Given the description of an element on the screen output the (x, y) to click on. 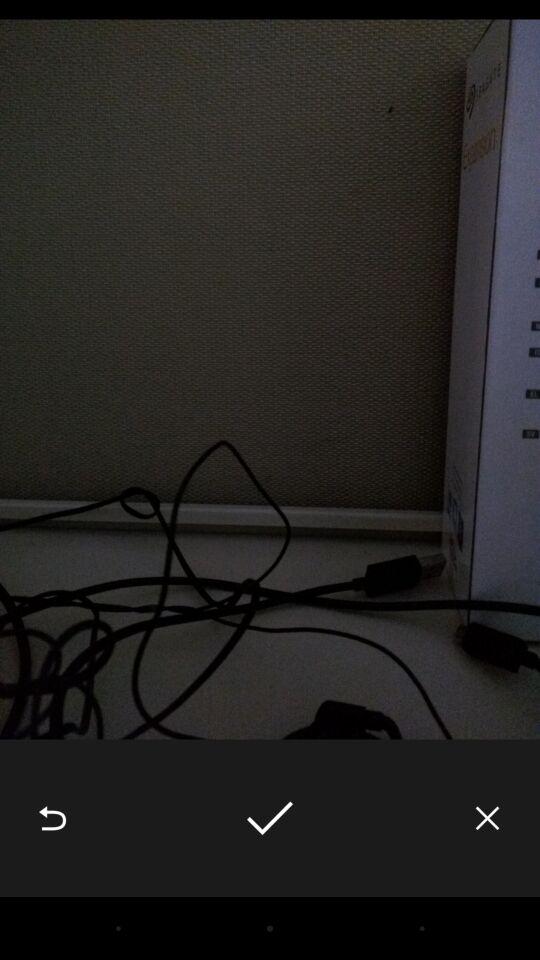
turn off icon at the bottom right corner (487, 817)
